Given the description of an element on the screen output the (x, y) to click on. 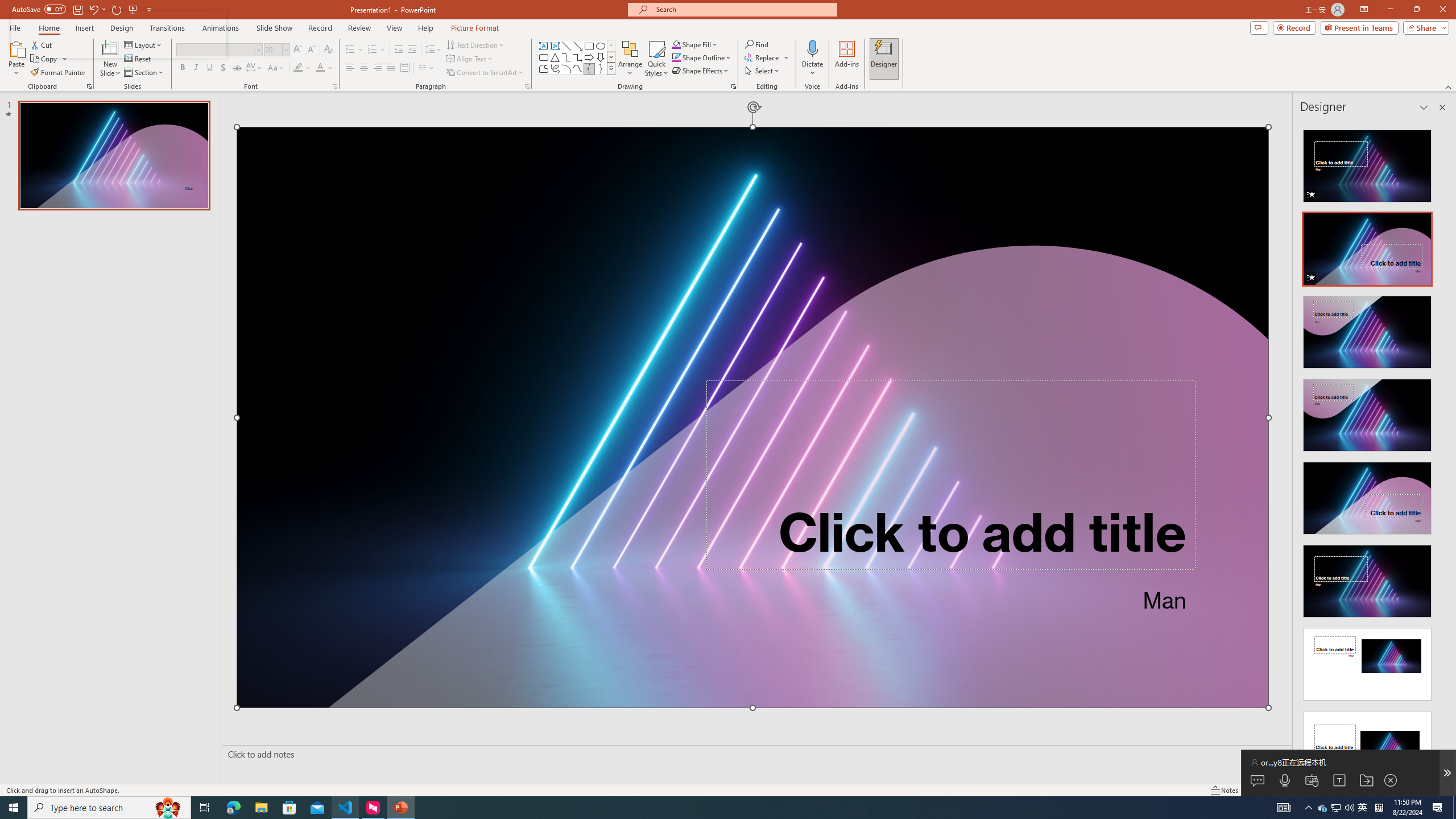
Decrease Font Size (310, 49)
Picture Format (475, 28)
Arrow: Right (589, 57)
Insert (83, 28)
New Slide (110, 48)
Shape Effects (700, 69)
Replace... (767, 56)
Arrange (630, 58)
Clear Formatting (327, 49)
Distributed (404, 67)
Center (363, 67)
Bullets (354, 49)
Connector: Elbow (566, 57)
